Given the description of an element on the screen output the (x, y) to click on. 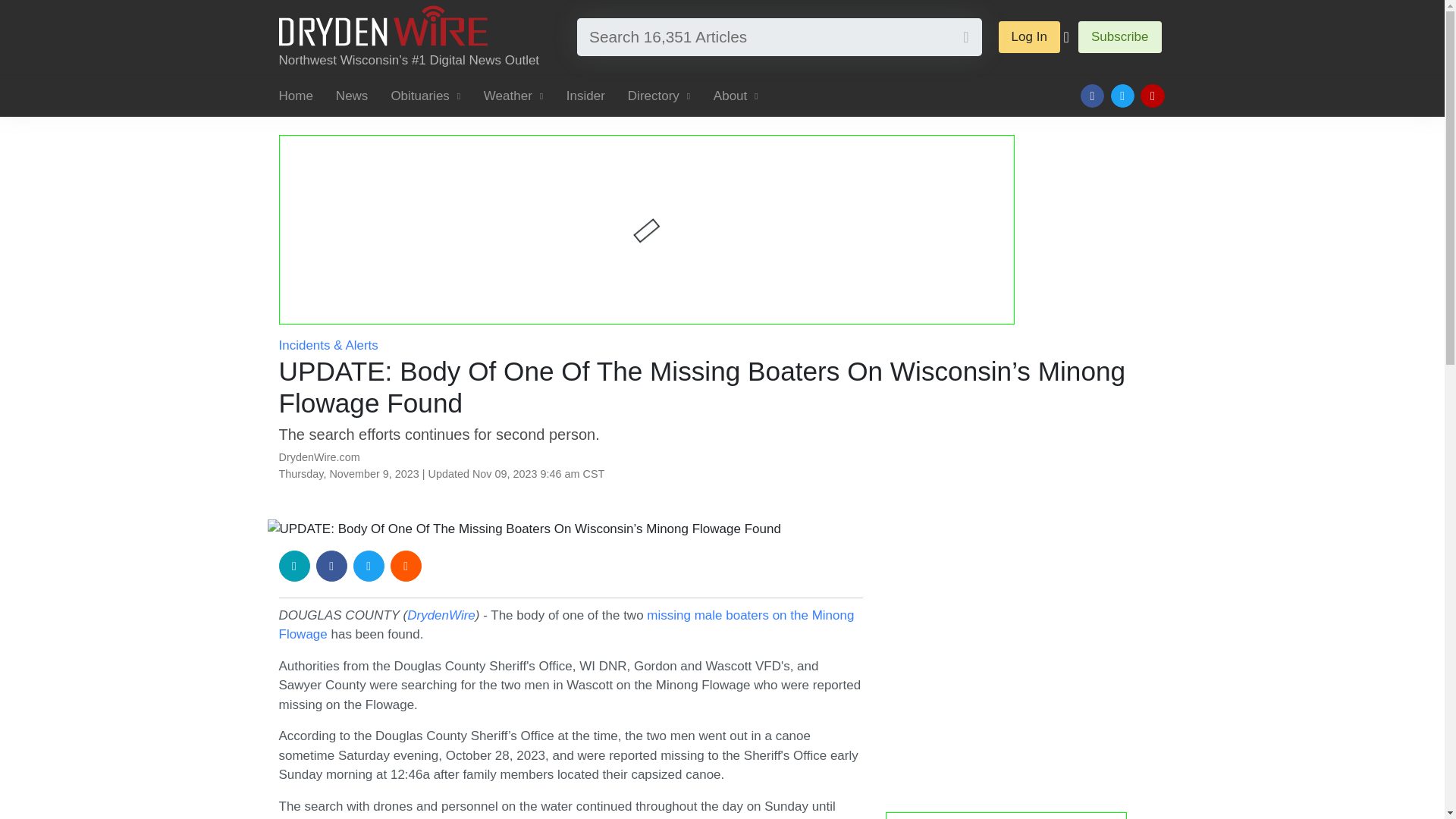
Log In (1028, 37)
Weather (512, 96)
News (352, 96)
About (735, 96)
reddit (406, 565)
Need A Loan? We Do That Here At ICU! (1025, 659)
Insider (584, 96)
email (294, 565)
Home (301, 96)
facebook (331, 565)
